Given the description of an element on the screen output the (x, y) to click on. 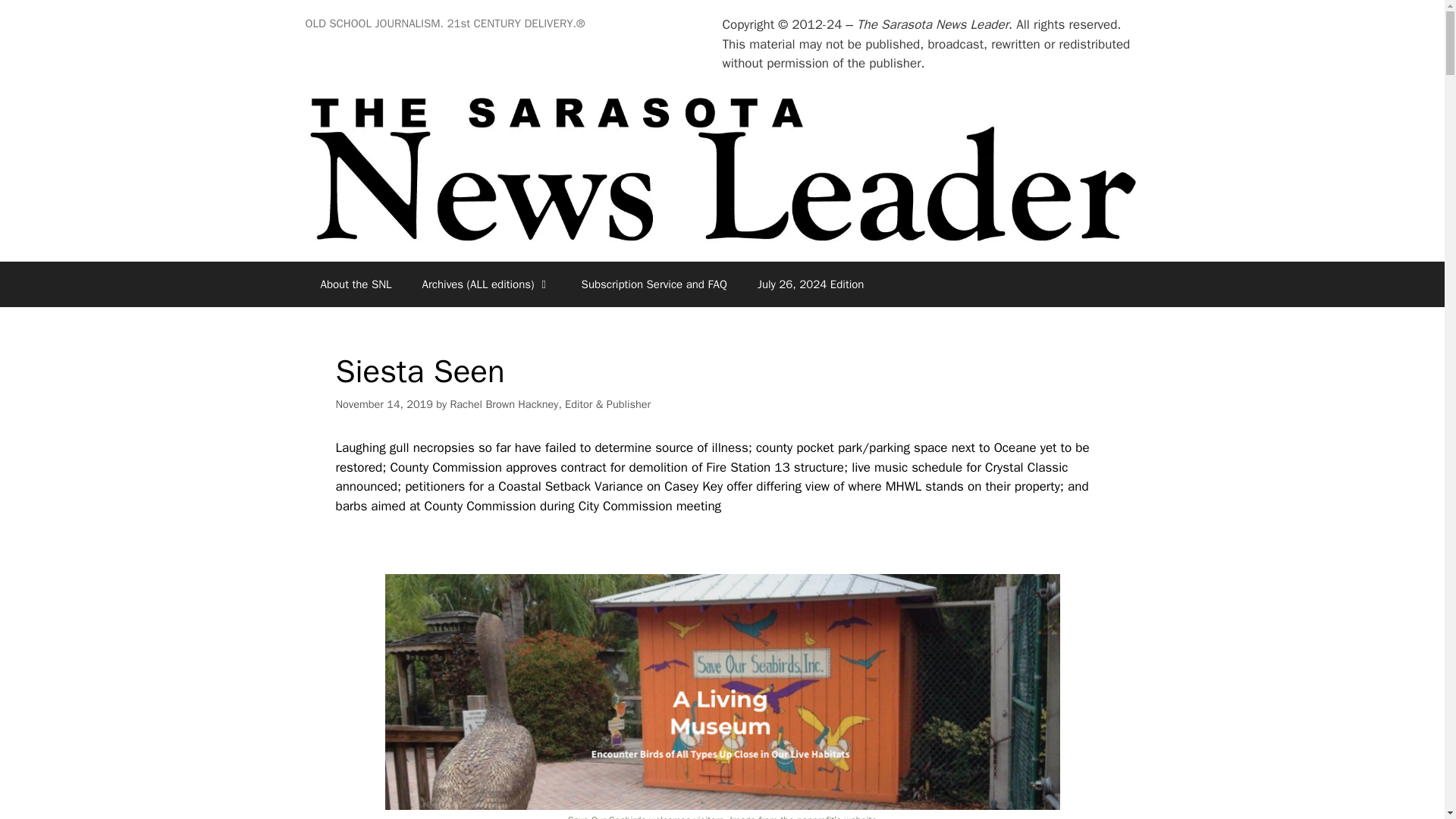
About the SNL (355, 284)
